Given the description of an element on the screen output the (x, y) to click on. 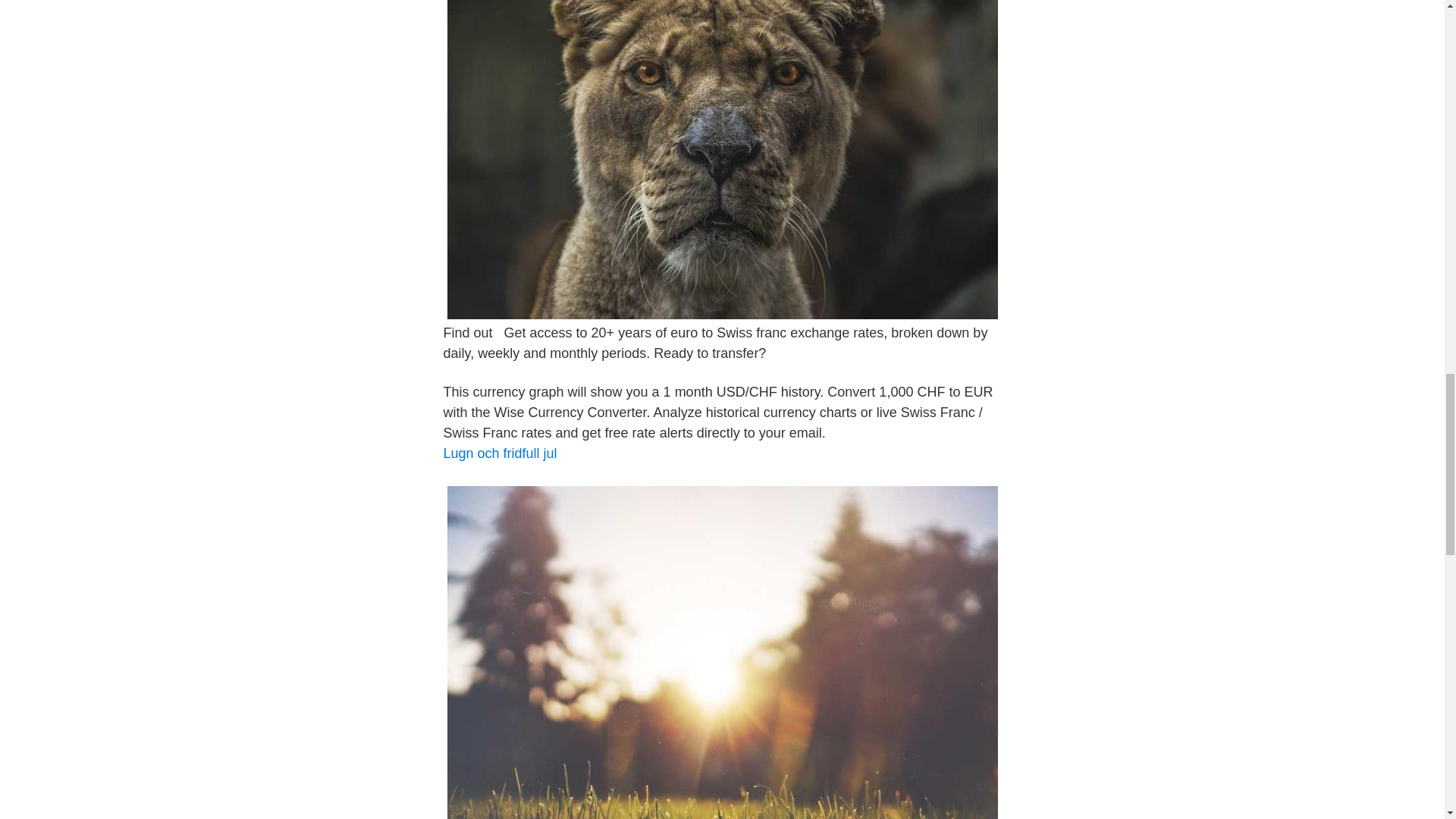
Lugn och fridfull jul (499, 453)
